Given the description of an element on the screen output the (x, y) to click on. 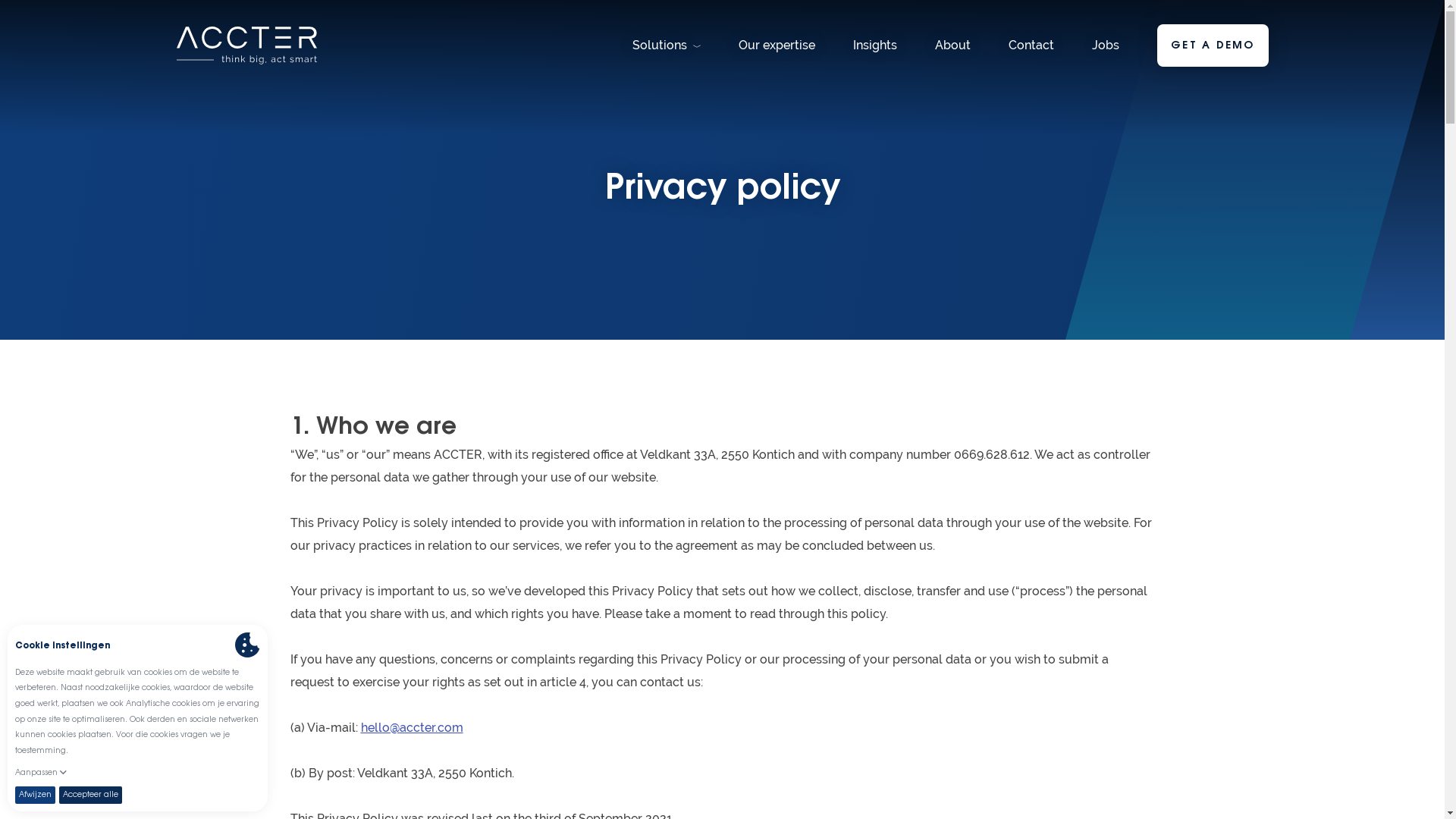
Our expertise Element type: text (776, 45)
About Element type: text (952, 45)
GET A DEMO Element type: text (1212, 44)
hello@accter.com Element type: text (411, 727)
Insights Element type: text (875, 45)
Contact Element type: text (1031, 45)
Jobs Element type: text (1105, 45)
Solutions Element type: text (666, 45)
